Given the description of an element on the screen output the (x, y) to click on. 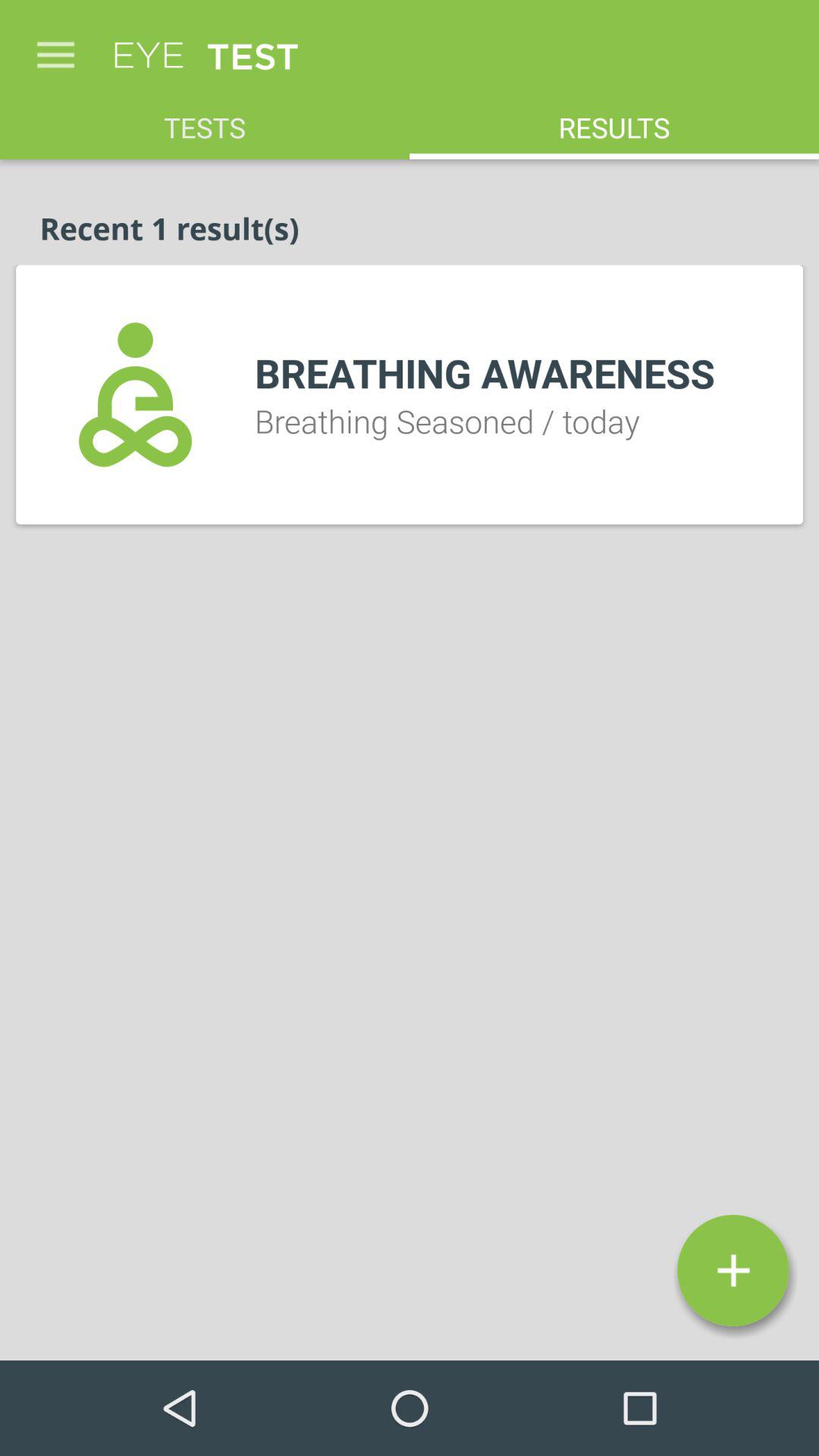
launch icon below breathing seasoned / today (733, 1270)
